Given the description of an element on the screen output the (x, y) to click on. 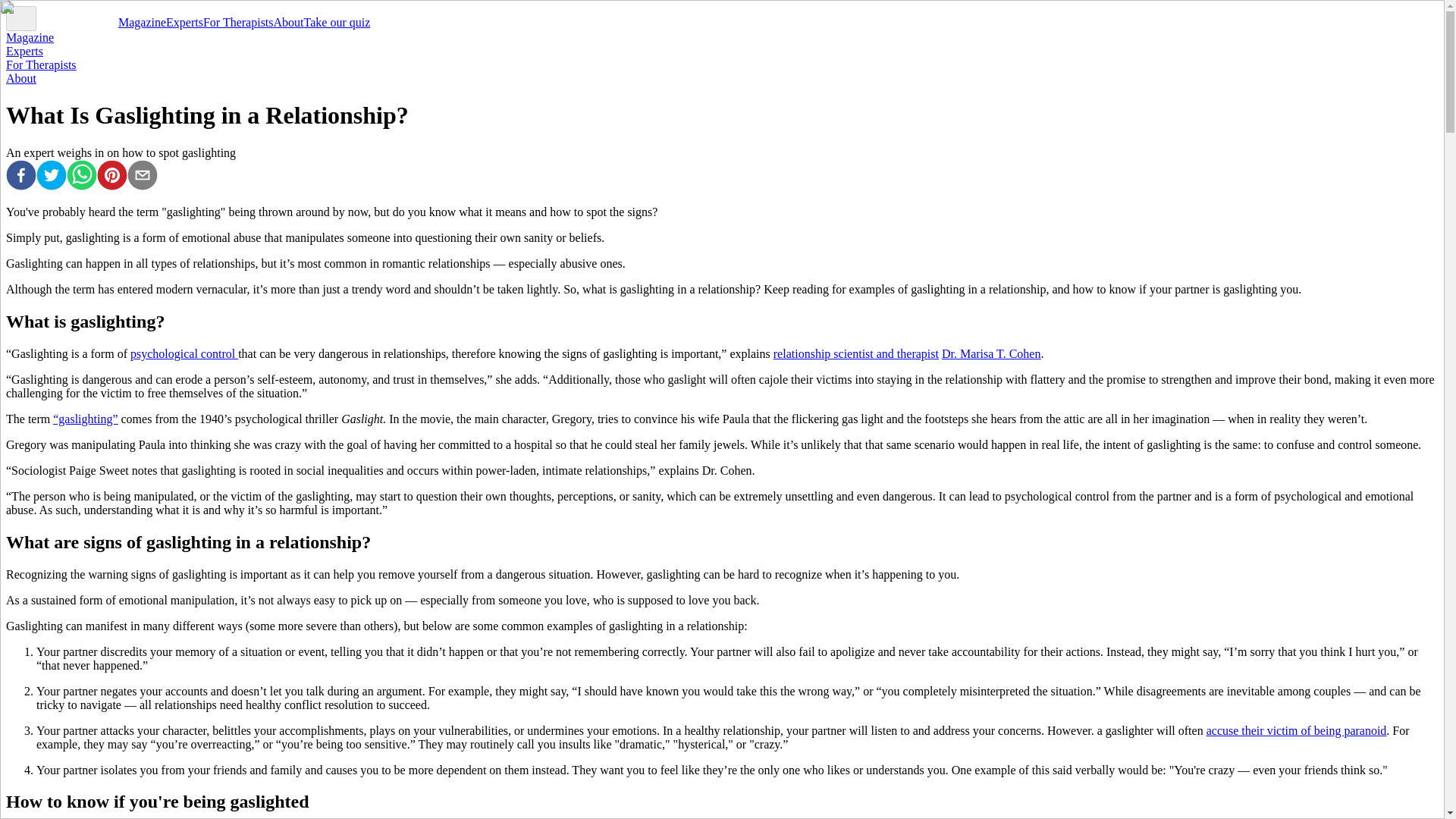
psychological control  (184, 353)
For Therapists (238, 21)
For Therapists (41, 64)
Magazine (29, 37)
Magazine (141, 21)
Experts (184, 21)
What Is Gaslighting in a Relationship? (142, 176)
About (20, 78)
Experts (24, 51)
About (288, 21)
